Given the description of an element on the screen output the (x, y) to click on. 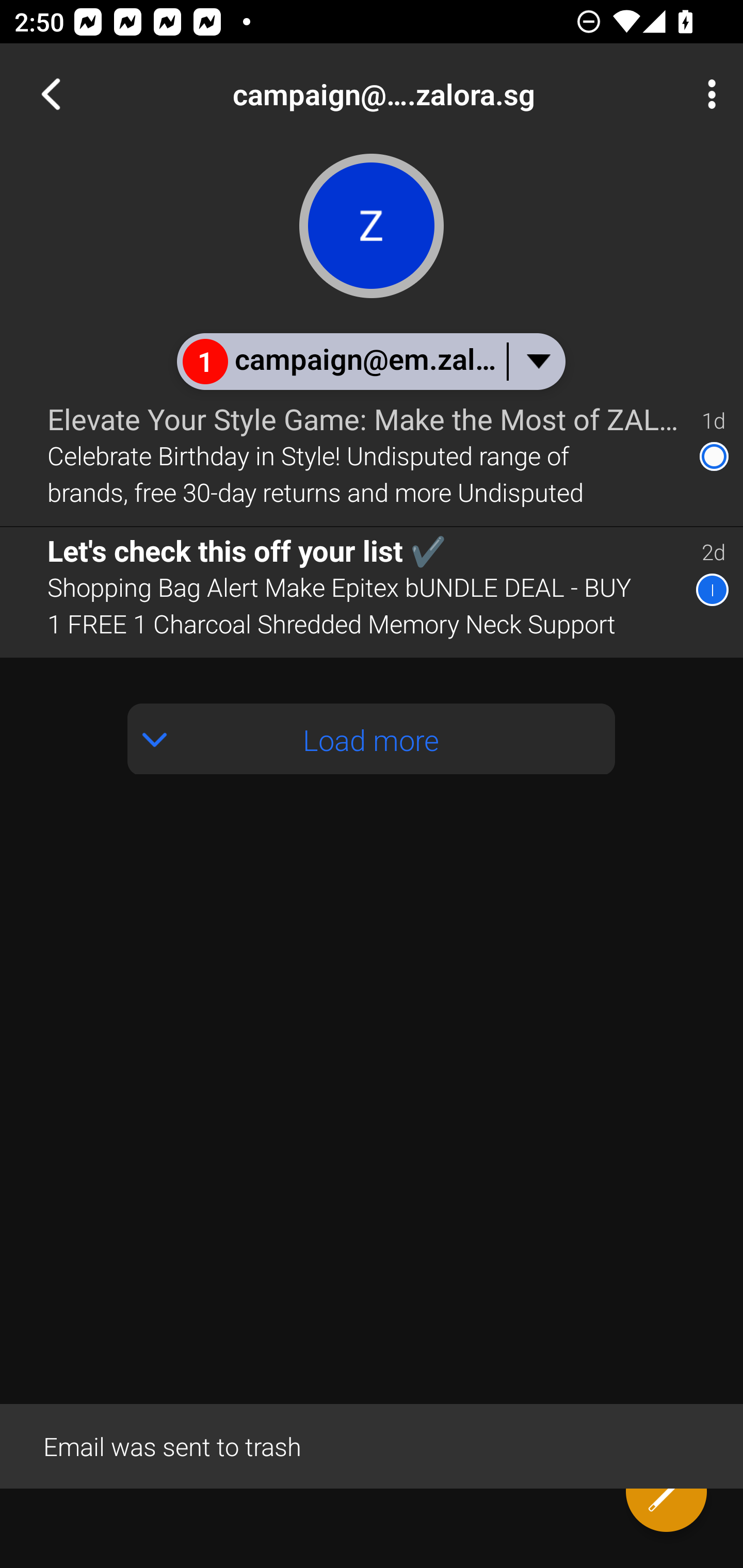
Navigate up (50, 93)
campaign@em.zalora.sg (436, 93)
More Options (706, 93)
1 campaign@em.zalora.sg & You (370, 361)
Load more (371, 739)
Email was sent to trash (371, 1445)
